Given the description of an element on the screen output the (x, y) to click on. 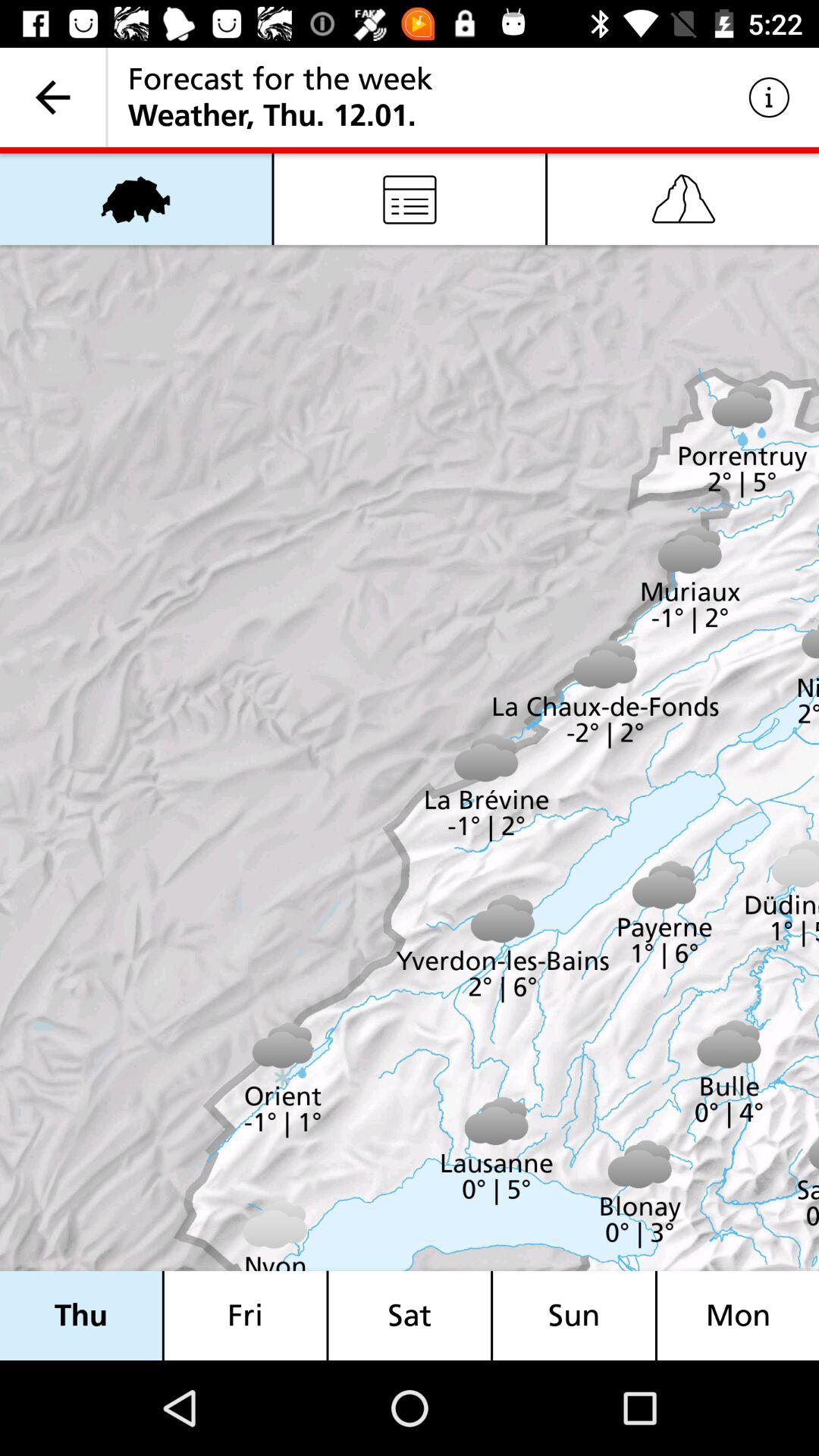
turn on the item next to sun icon (409, 1315)
